Given the description of an element on the screen output the (x, y) to click on. 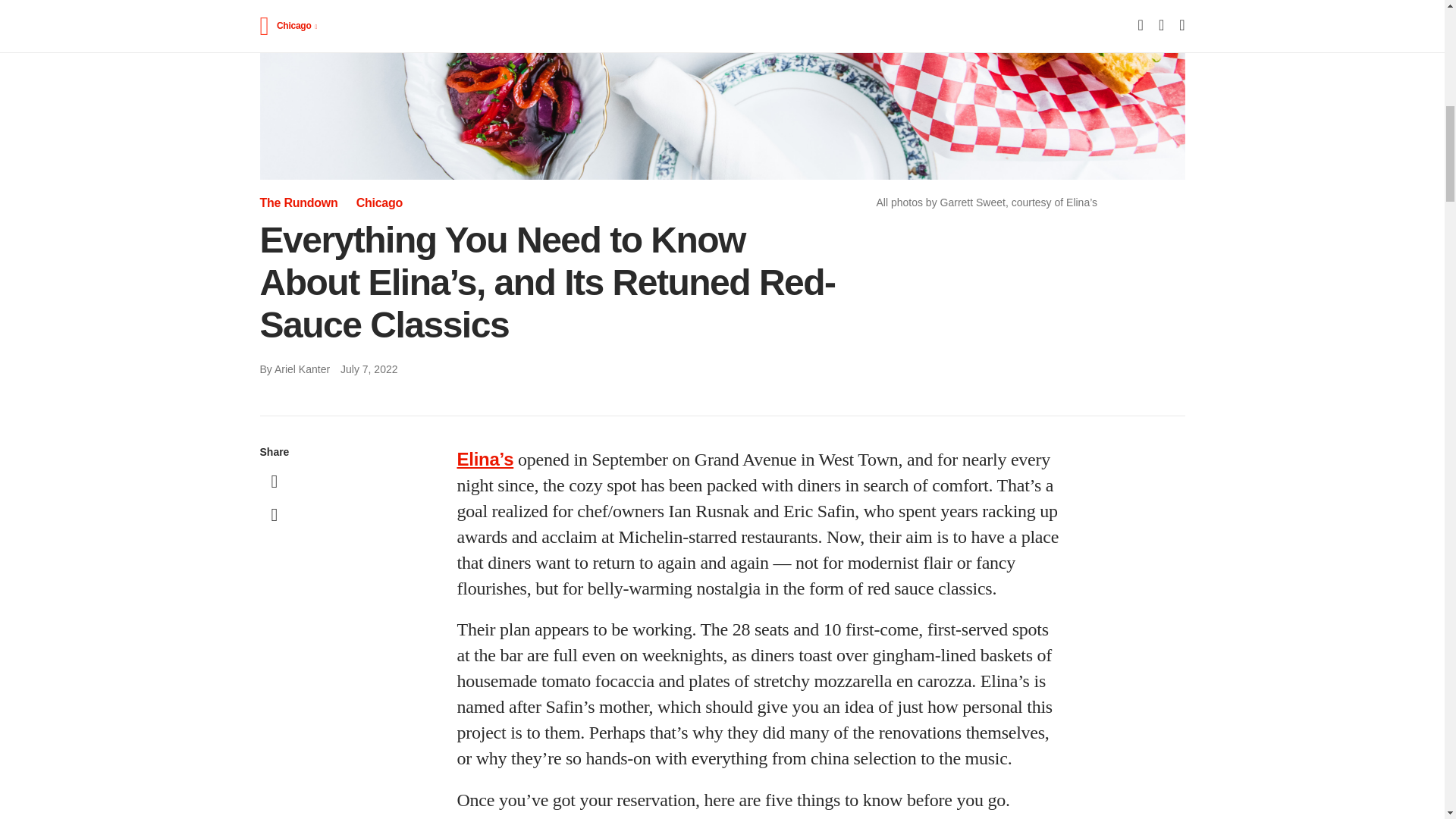
Posts by Ariel Kanter (302, 369)
